Given the description of an element on the screen output the (x, y) to click on. 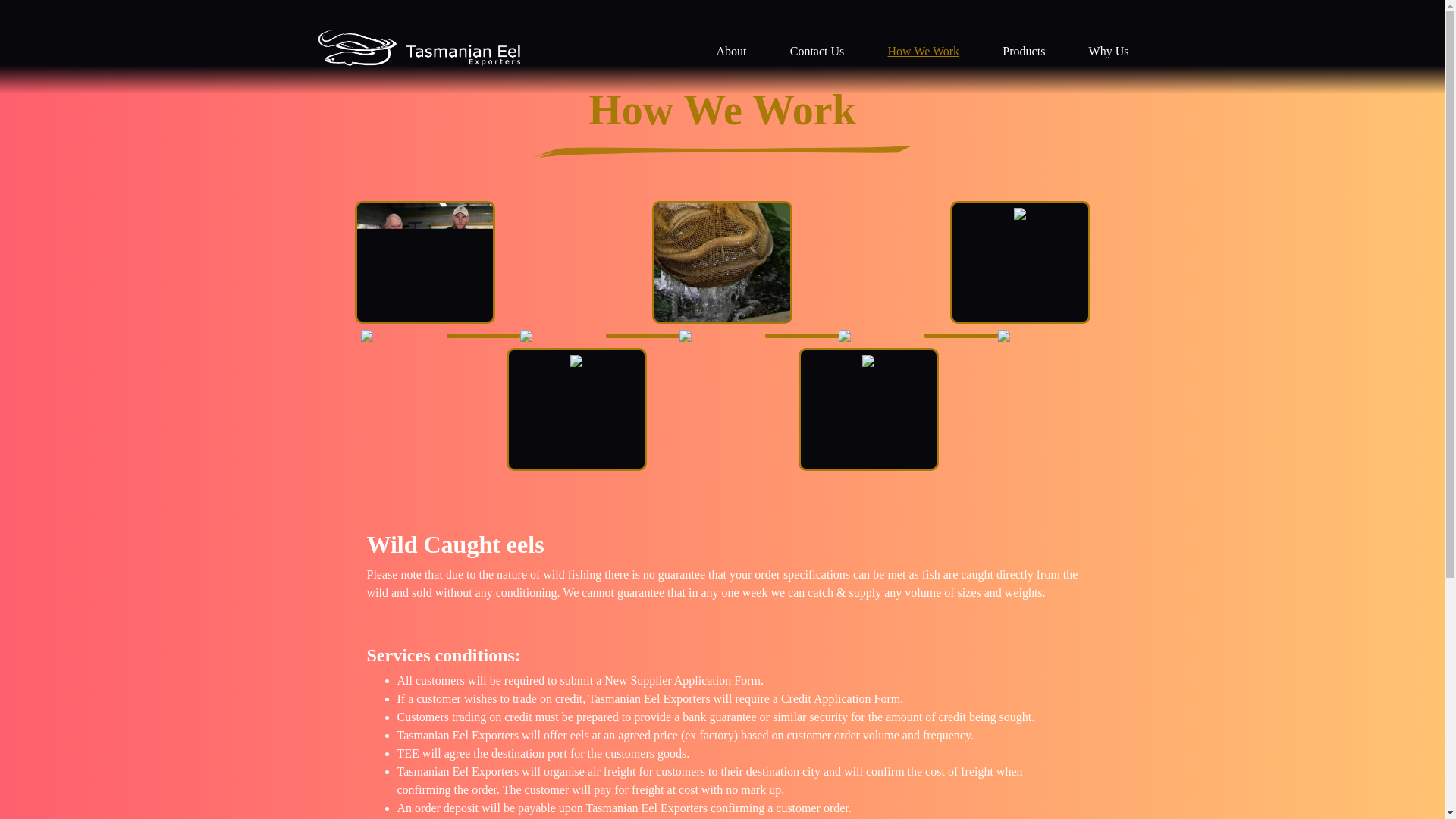
How We Work (924, 51)
Products (1023, 51)
Why Us (1109, 51)
About (731, 51)
Contact Us (817, 51)
